Given the description of an element on the screen output the (x, y) to click on. 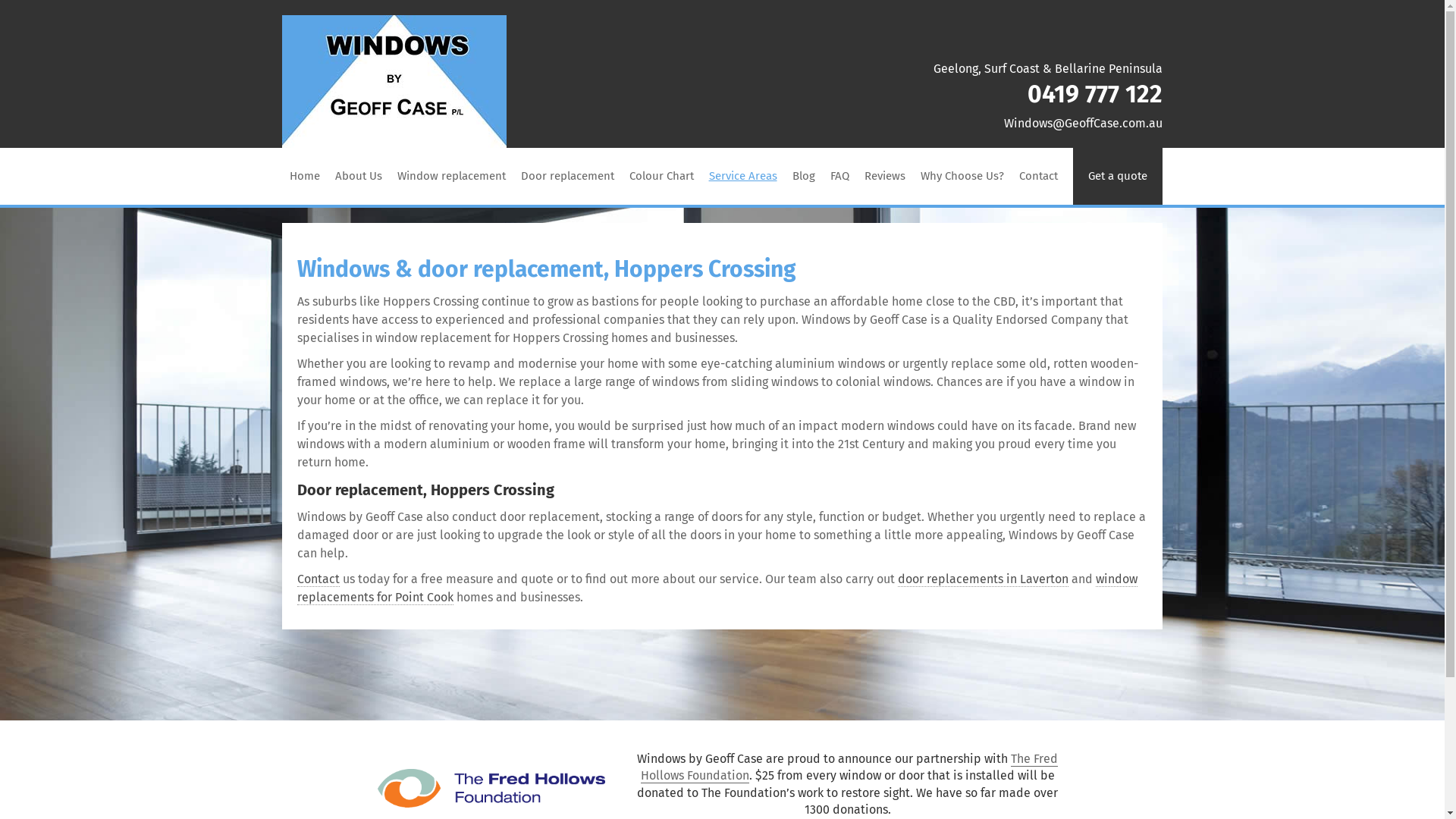
0419 777 122 Element type: text (1094, 93)
Get a quote Element type: text (1117, 175)
Colour Chart Element type: text (661, 175)
door replacements in Laverton Element type: text (982, 578)
Door replacement Element type: text (567, 175)
Blog Element type: text (803, 175)
Contact Element type: text (1038, 175)
The Fred Hollows Foundation Element type: text (848, 767)
Home Element type: text (304, 175)
window replacements for Point Cook Element type: text (717, 588)
Service Areas Element type: text (742, 175)
Reviews Element type: text (884, 175)
Why Choose Us? Element type: text (962, 175)
FAQ Element type: text (839, 175)
About Us Element type: text (358, 175)
Contact Element type: text (318, 578)
ua.moc.esaCffoeG@swodniW Element type: text (941, 123)
Window replacement Element type: text (451, 175)
